Given the description of an element on the screen output the (x, y) to click on. 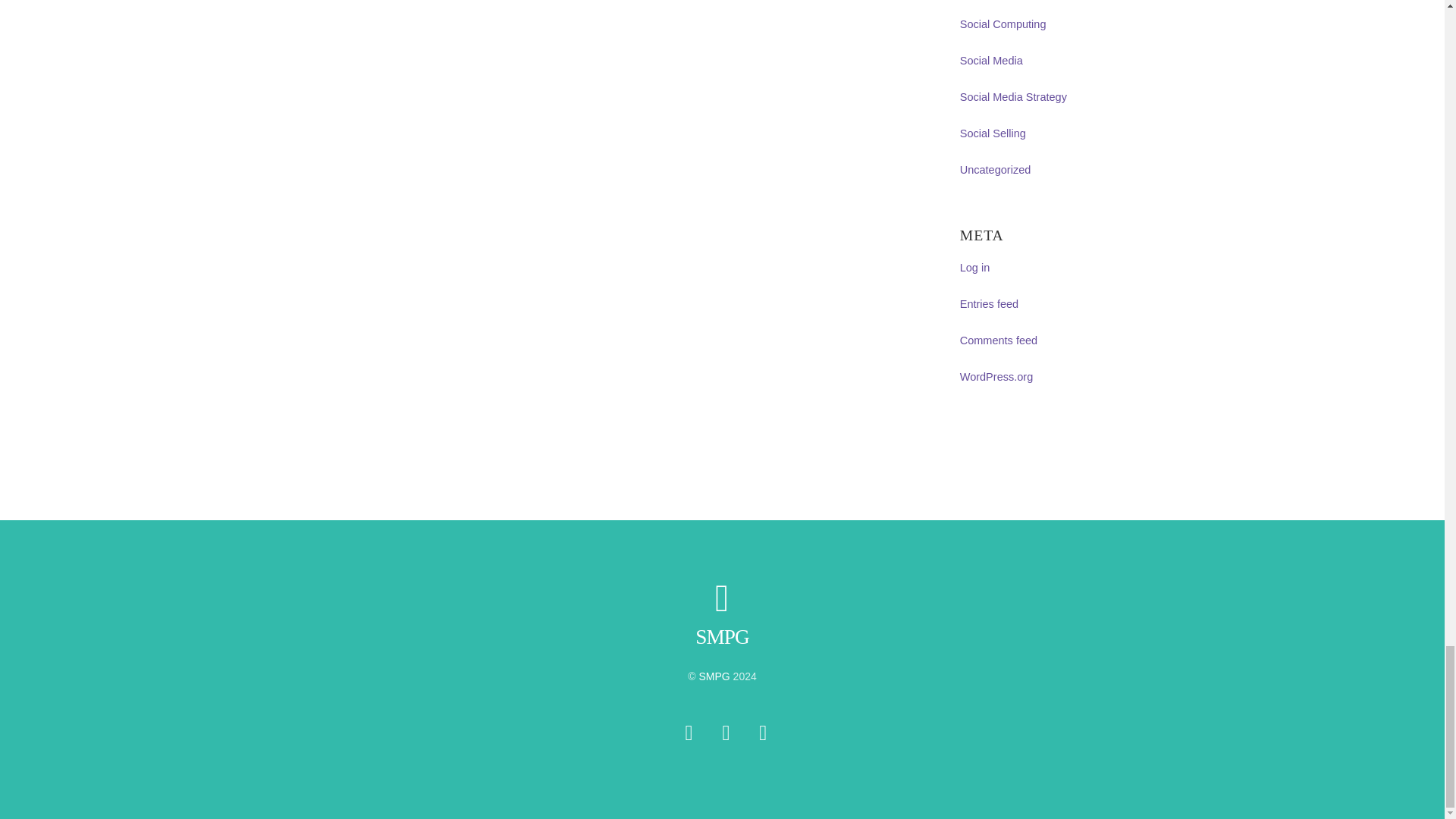
Facebook (726, 732)
Twitter (689, 732)
SMPG (721, 636)
